Given the description of an element on the screen output the (x, y) to click on. 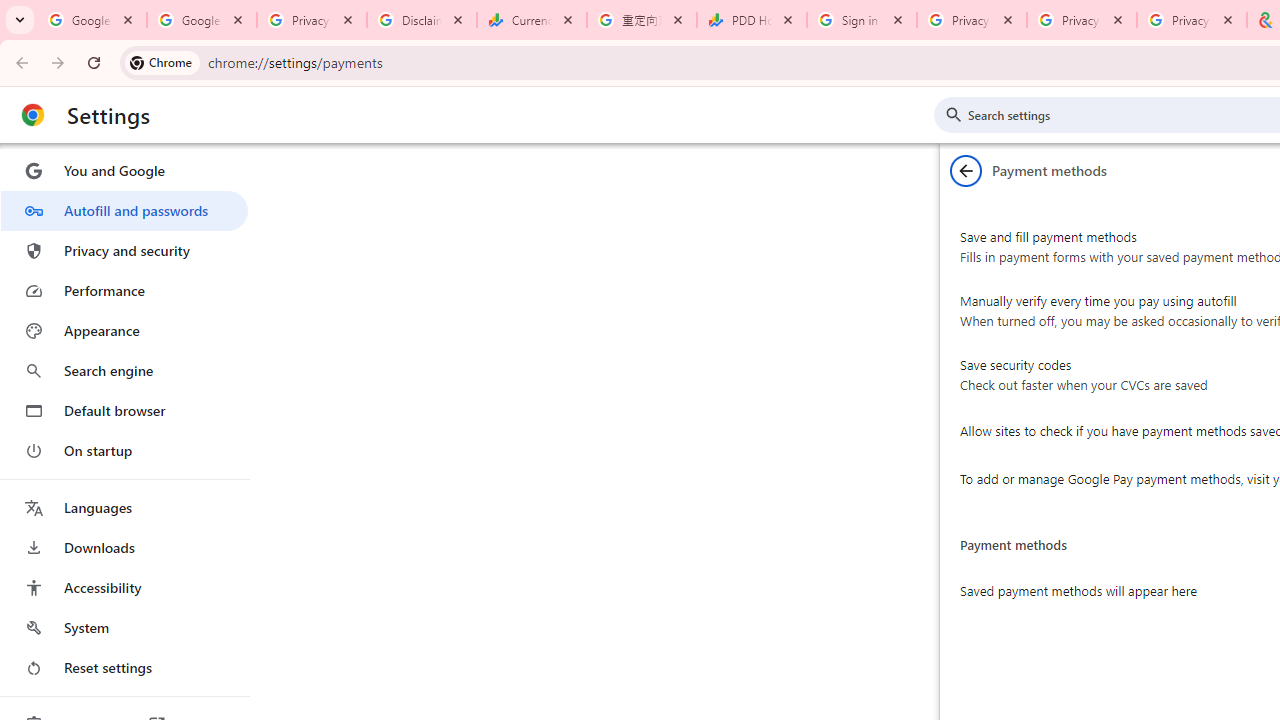
Google Workspace Admin Community (92, 20)
PDD Holdings Inc - ADR (PDD) Price & News - Google Finance (752, 20)
